Given the description of an element on the screen output the (x, y) to click on. 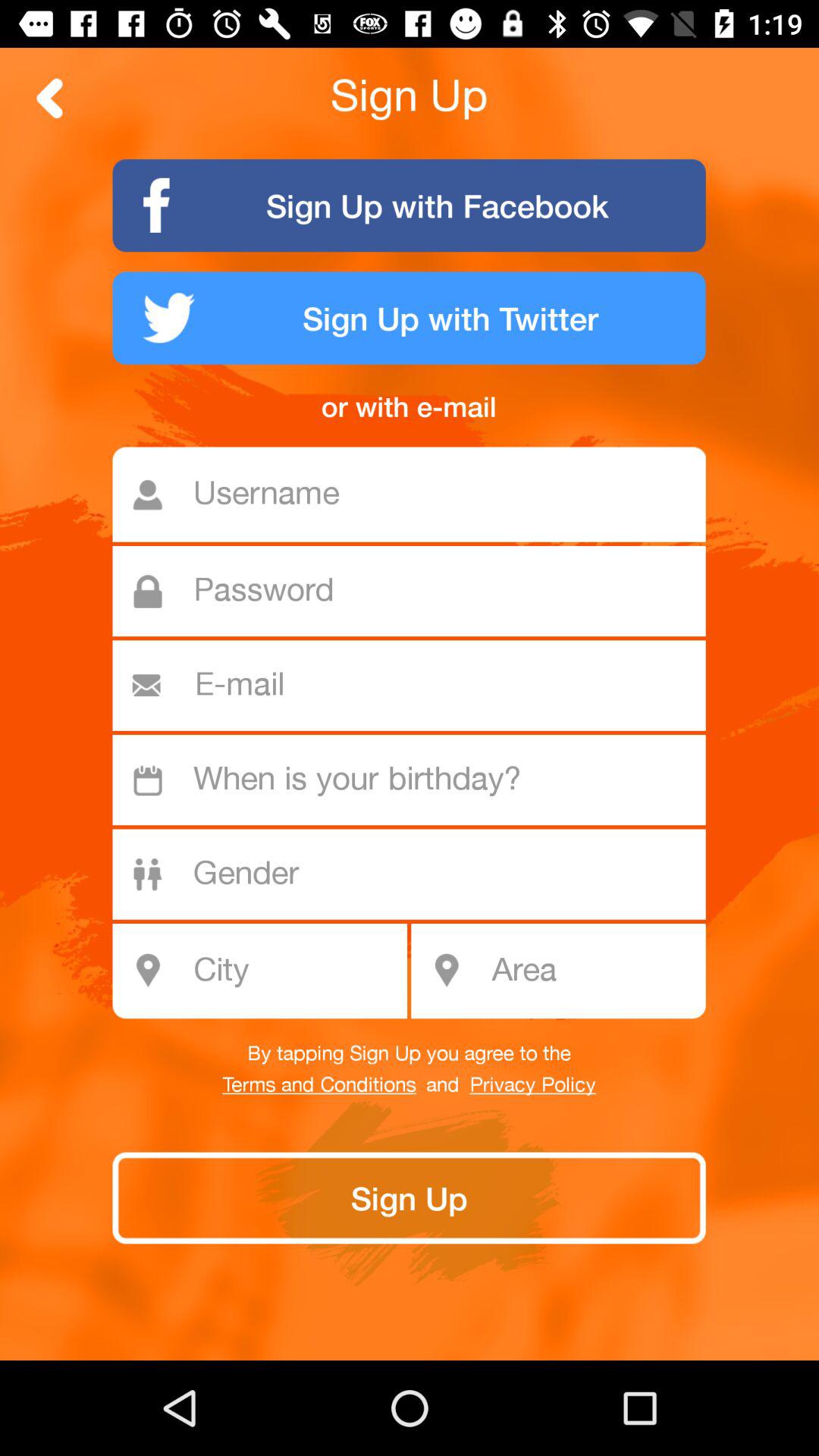
write city (268, 970)
